Given the description of an element on the screen output the (x, y) to click on. 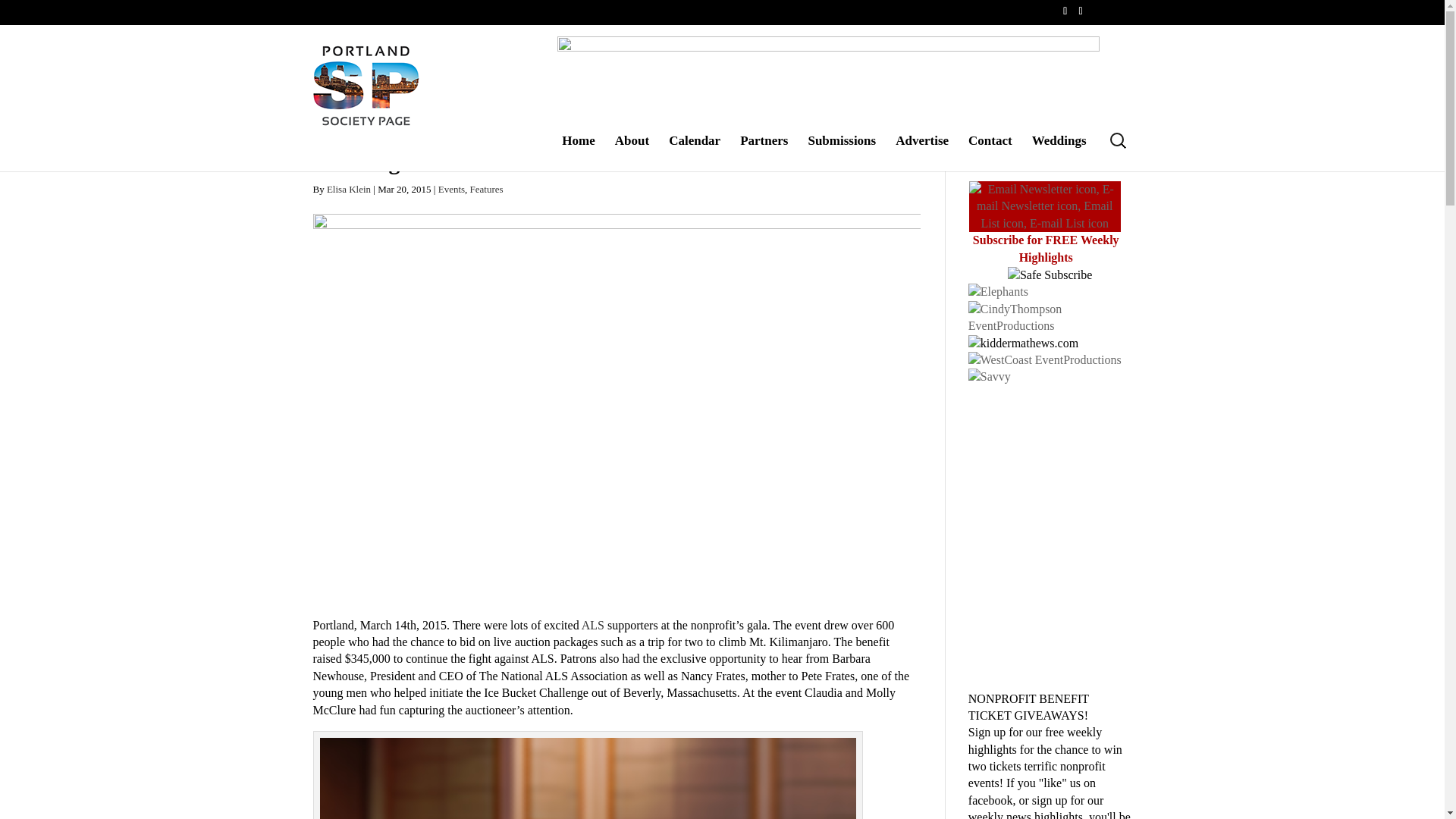
Partners (763, 152)
Search (19, 8)
Submissions (842, 152)
Calendar (694, 152)
Elisa Klein (348, 188)
Events (451, 188)
Weddings (1059, 152)
Subscribe for FREE Weekly Highlights (1045, 247)
Advertise (922, 152)
ALS (593, 625)
About (631, 152)
Posts by Elisa Klein (348, 188)
Contact (989, 152)
Home (578, 152)
Features (486, 188)
